Given the description of an element on the screen output the (x, y) to click on. 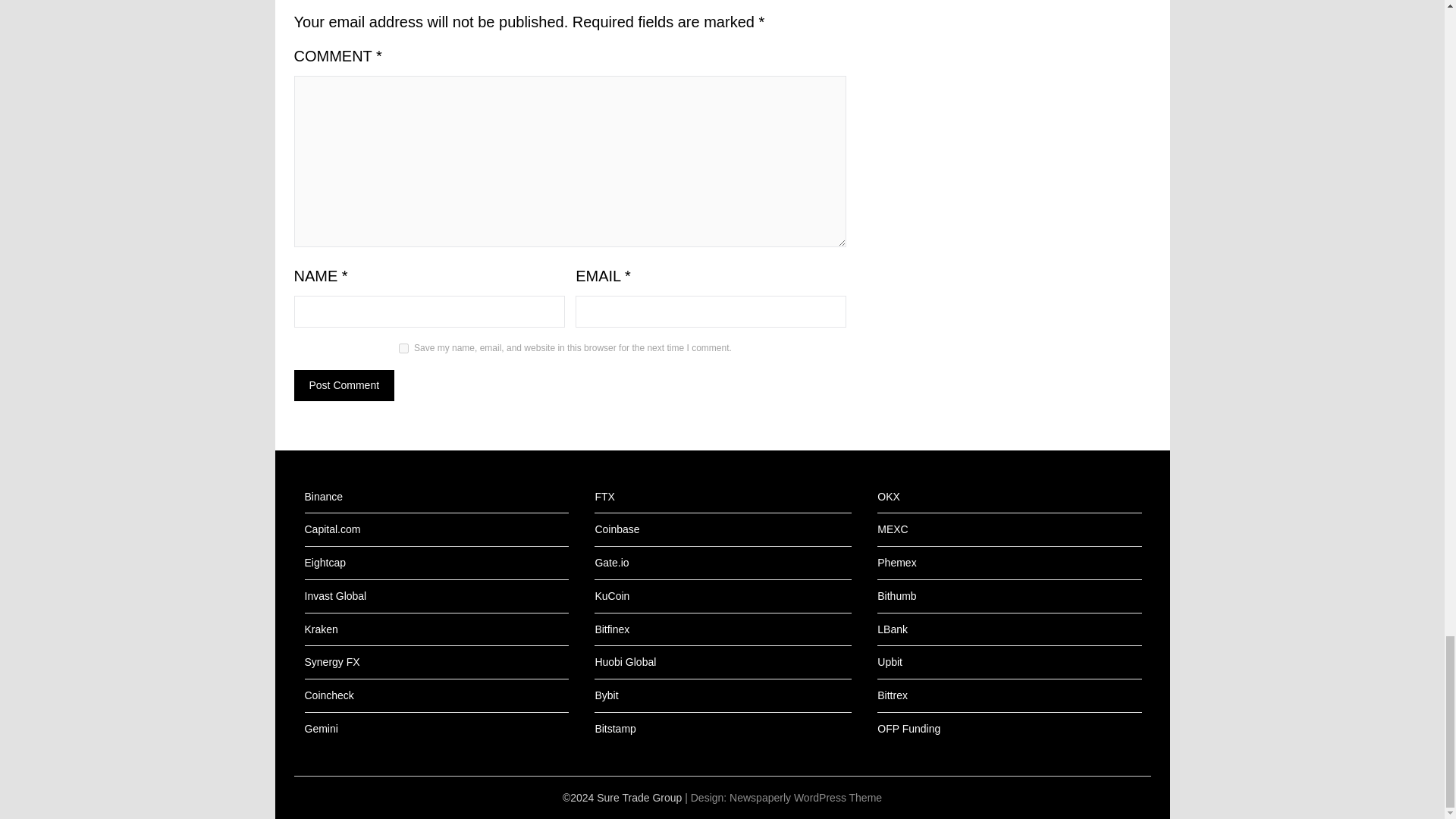
Post Comment (344, 385)
Post Comment (344, 385)
yes (403, 347)
